Given the description of an element on the screen output the (x, y) to click on. 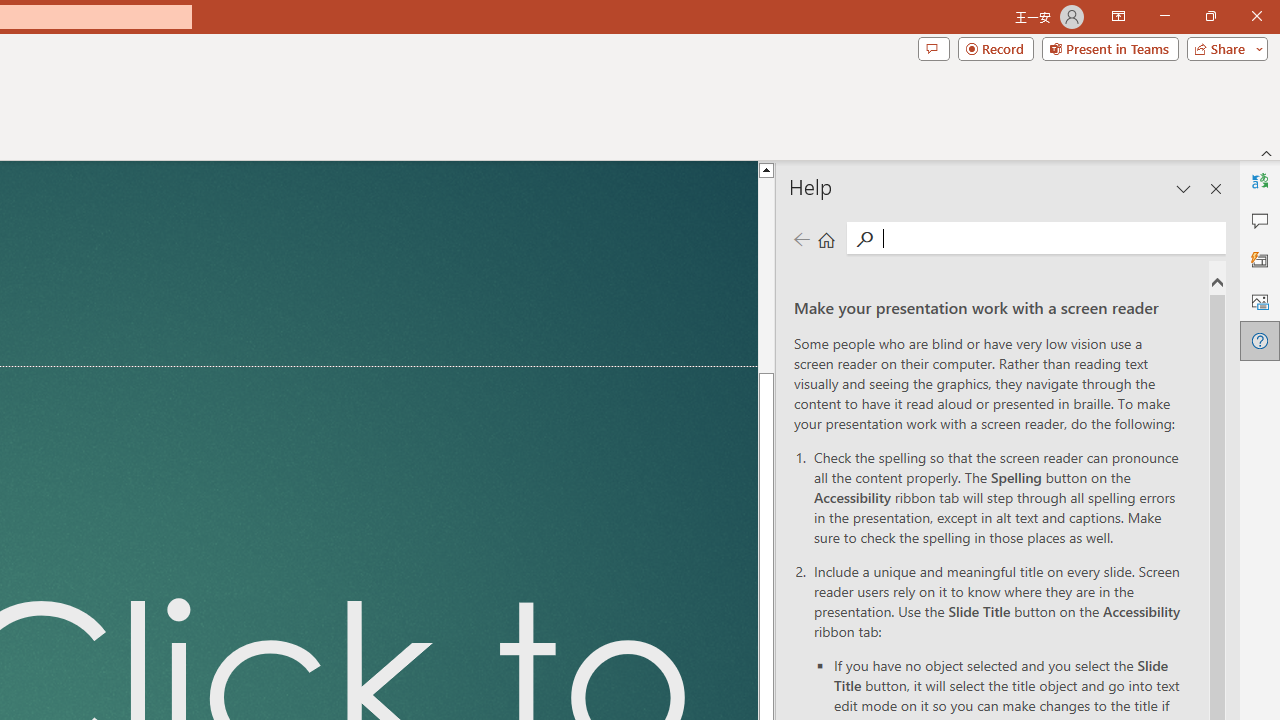
Previous page (801, 238)
